Given the description of an element on the screen output the (x, y) to click on. 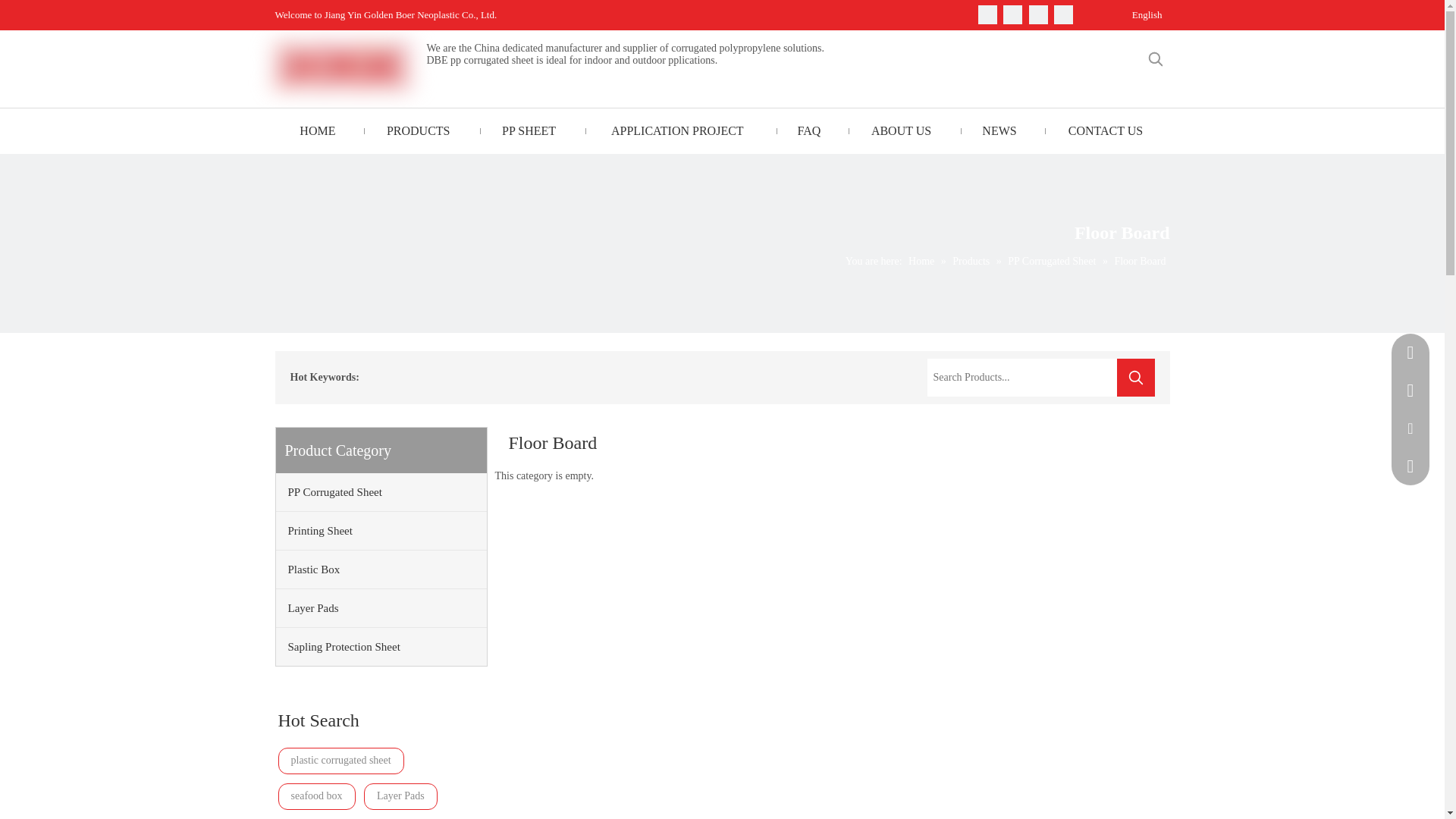
FAQ (809, 130)
HOME (317, 130)
CONTACT US (1105, 130)
Twitter (1038, 14)
Instagram (1063, 14)
Printing Sheet (381, 530)
 English (1138, 15)
Plastic Box (381, 569)
PP Corrugated Sheet (381, 492)
PP SHEET (528, 130)
ABOUT US (901, 130)
PRODUCTS (417, 130)
Facebook (987, 14)
Linkedin (1012, 14)
NEWS (999, 130)
